Given the description of an element on the screen output the (x, y) to click on. 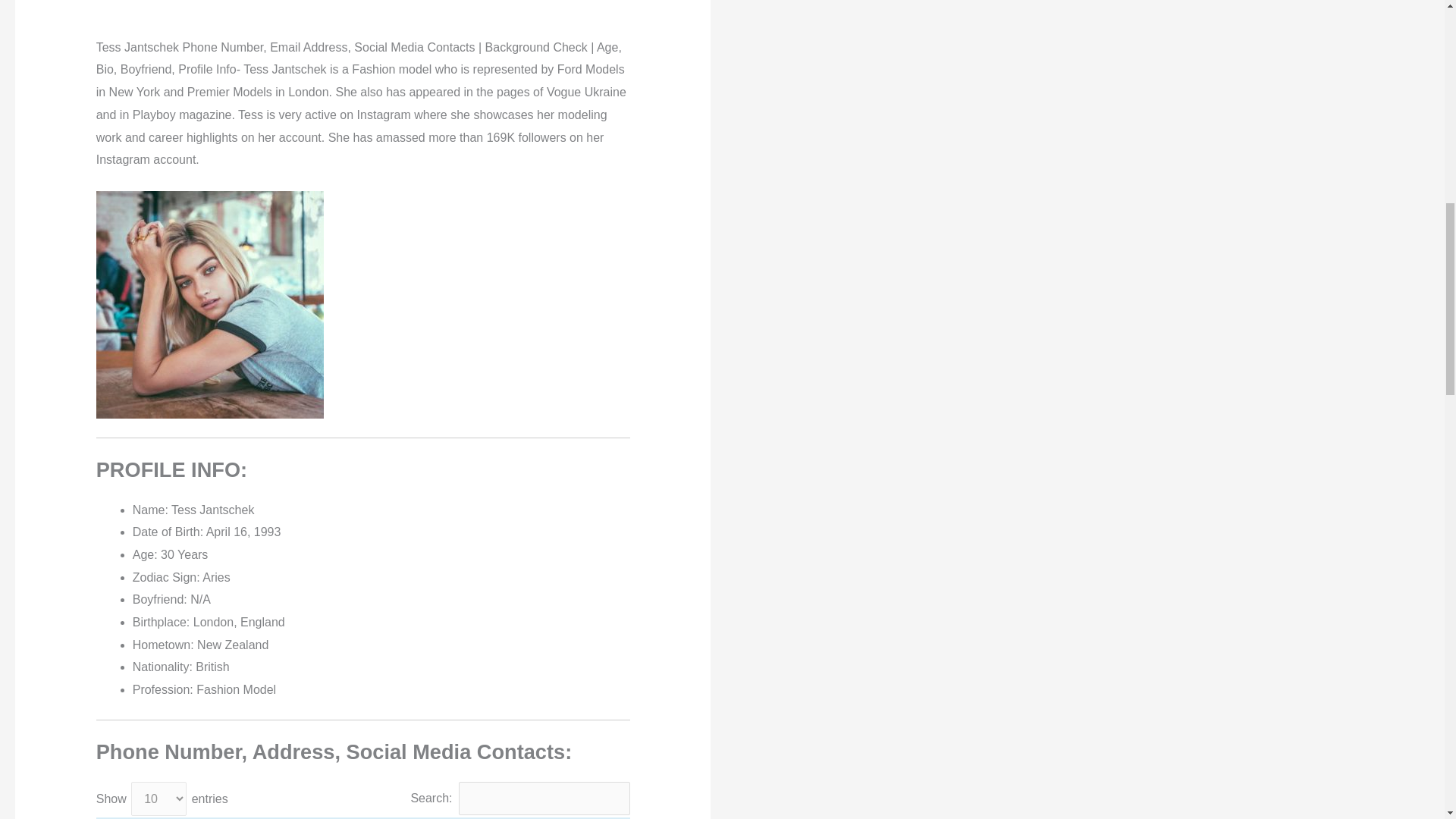
Advertisement (362, 14)
